Given the description of an element on the screen output the (x, y) to click on. 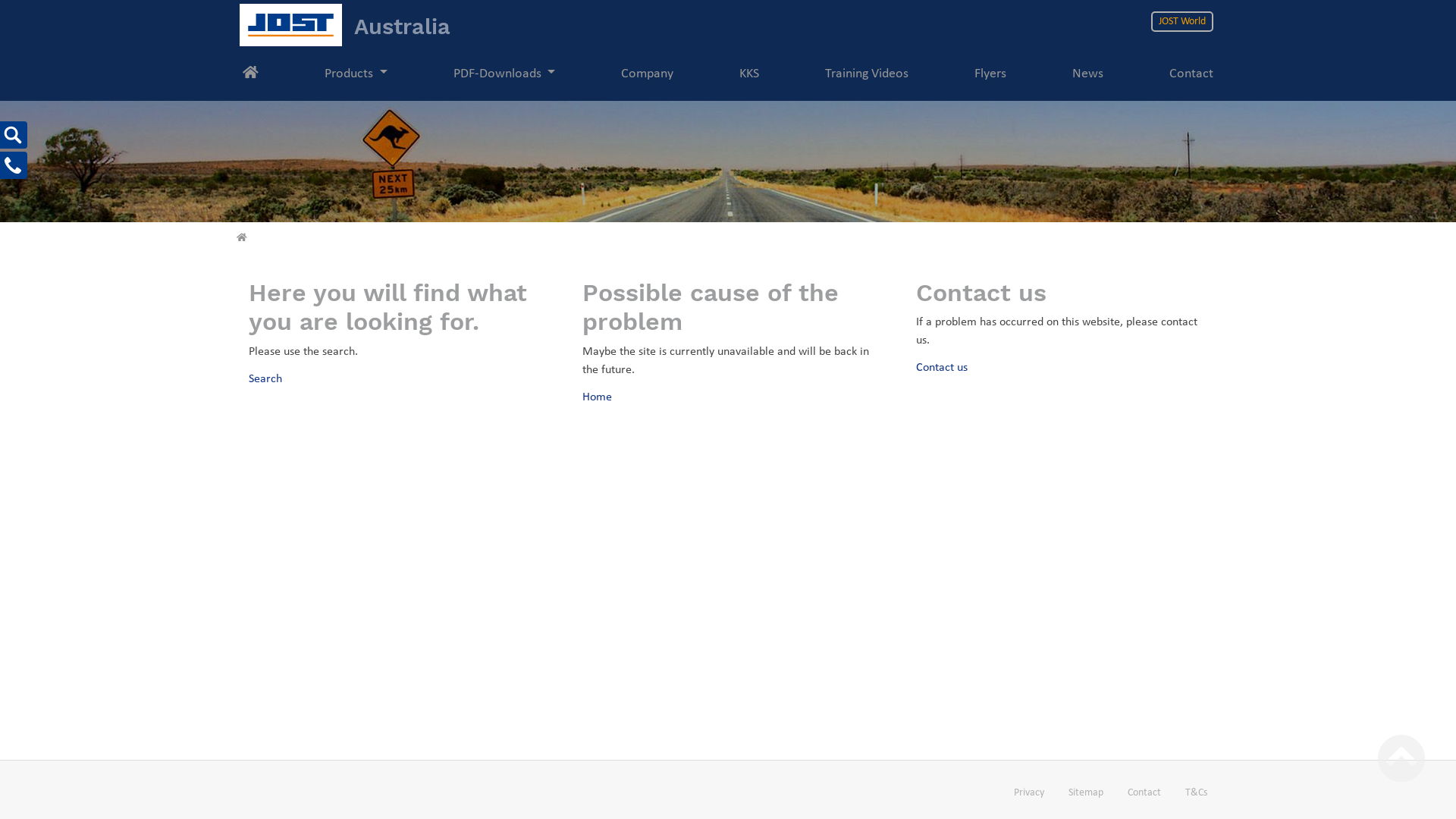
Contact Element type: text (1191, 74)
JOST World Element type: text (1182, 21)
404 Element type: hover (241, 237)
Search Element type: text (265, 379)
Australia Element type: text (344, 25)
Contact us Element type: text (941, 367)
PDF-Downloads Element type: text (504, 74)
Products Element type: text (355, 74)
to top Element type: hover (1401, 757)
KKS Element type: text (749, 74)
Flyers Element type: text (990, 74)
Training Videos Element type: text (866, 74)
Sitemap Element type: text (1085, 792)
Contact Element type: text (1144, 792)
T&Cs Element type: text (1196, 792)
News Element type: text (1087, 74)
Privacy Element type: text (1028, 792)
Company Element type: text (647, 74)
Home Element type: text (596, 397)
